Given the description of an element on the screen output the (x, y) to click on. 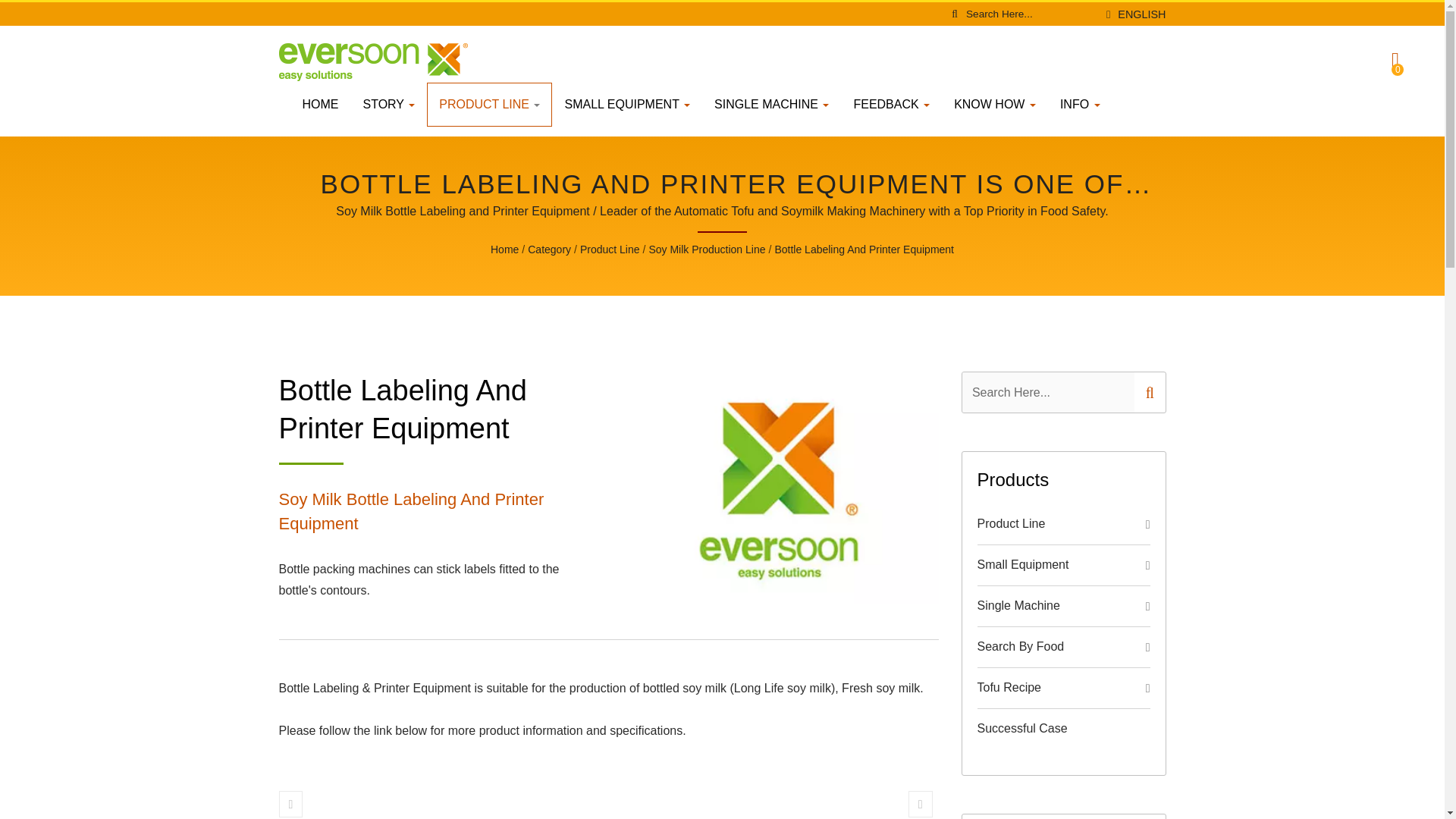
Search Here... (1047, 392)
Search Here... (1030, 13)
Product Line (609, 249)
Bottle Labeling and Printer Equipment (863, 249)
Category (548, 249)
ENGLISH (1142, 14)
Soy Milk Production Line (706, 249)
